Given the description of an element on the screen output the (x, y) to click on. 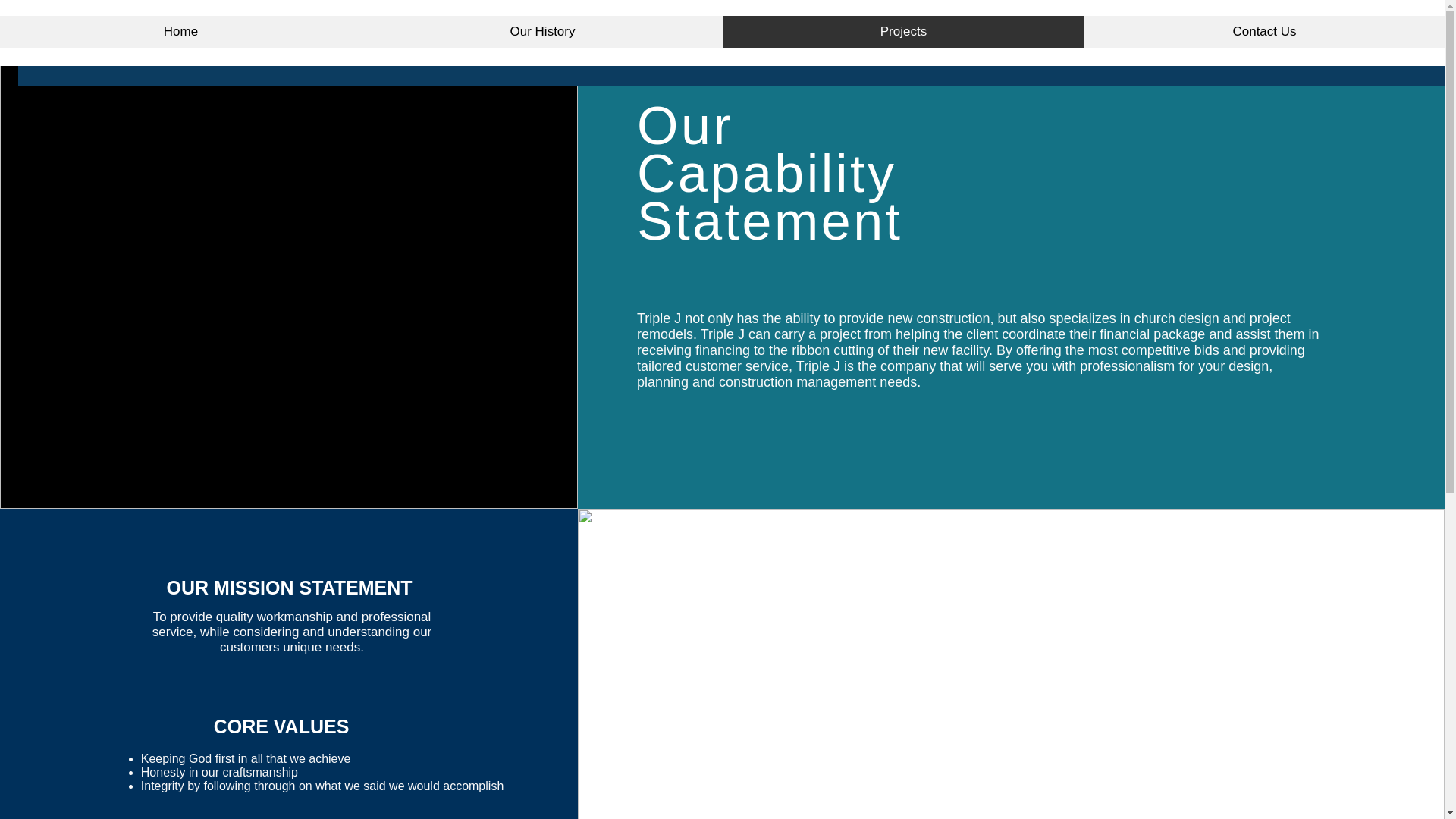
Home (180, 31)
Our History (541, 31)
Projects (902, 31)
